Given the description of an element on the screen output the (x, y) to click on. 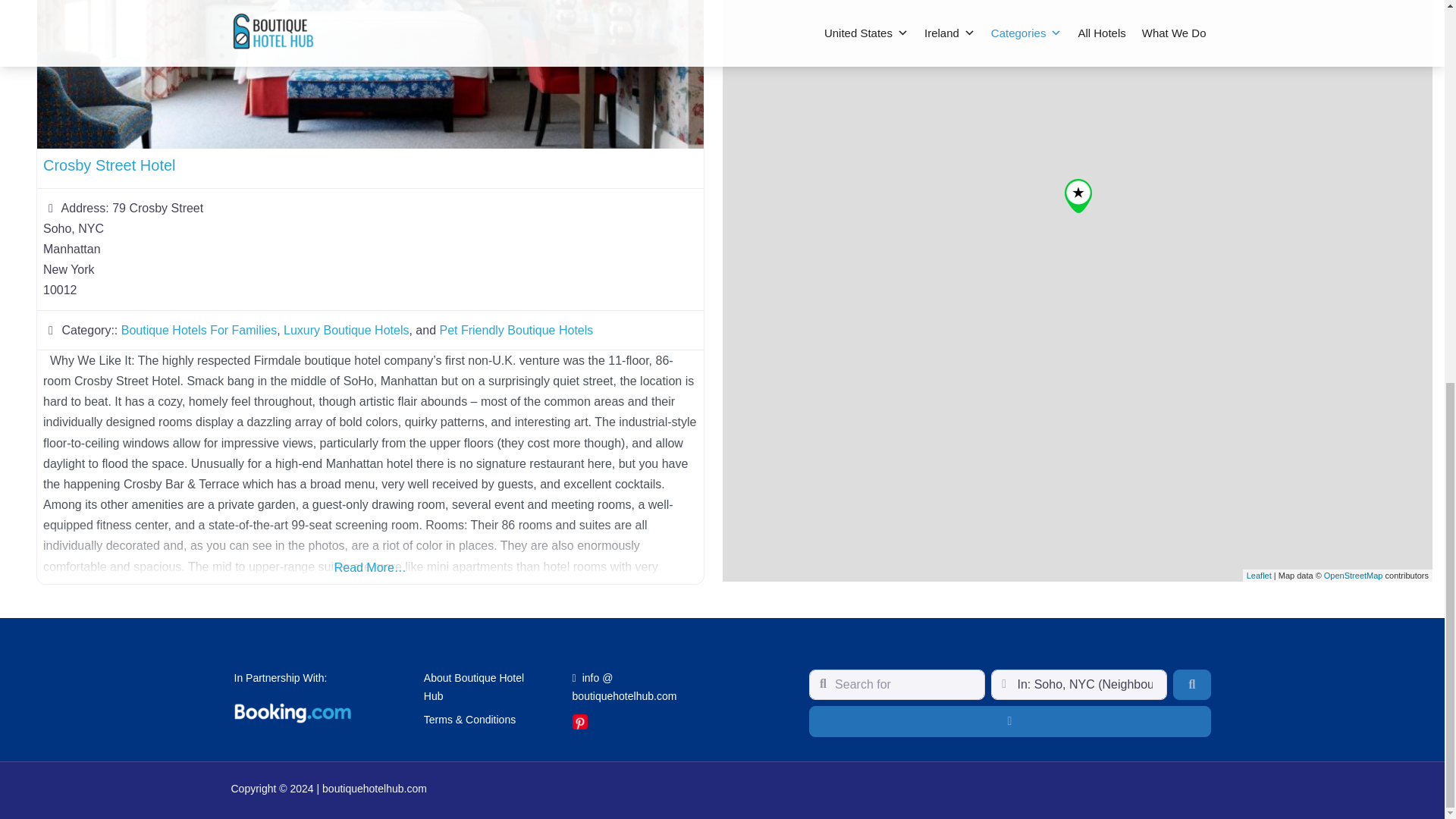
A JS library for interactive maps (1258, 99)
View: Crosby Street Hotel (109, 165)
